Given the description of an element on the screen output the (x, y) to click on. 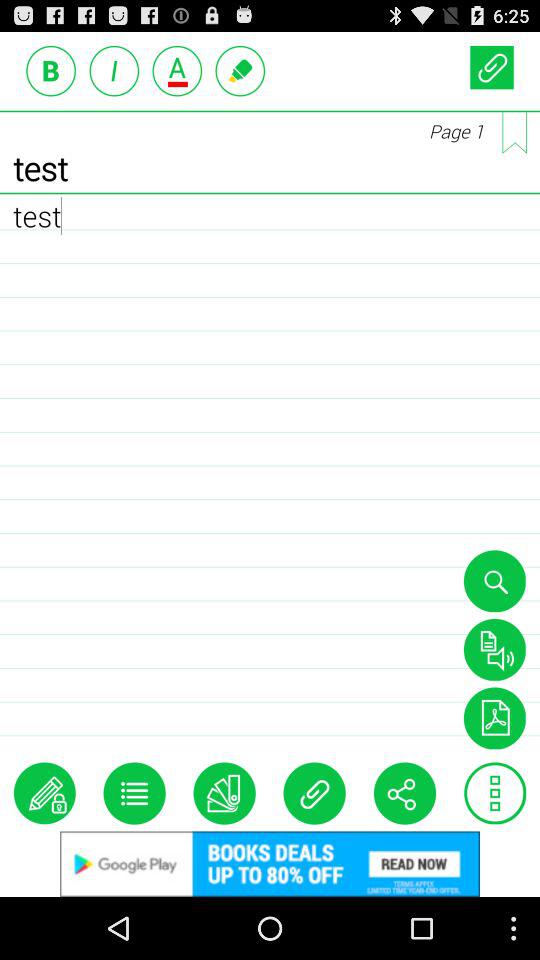
add attachment (491, 66)
